Given the description of an element on the screen output the (x, y) to click on. 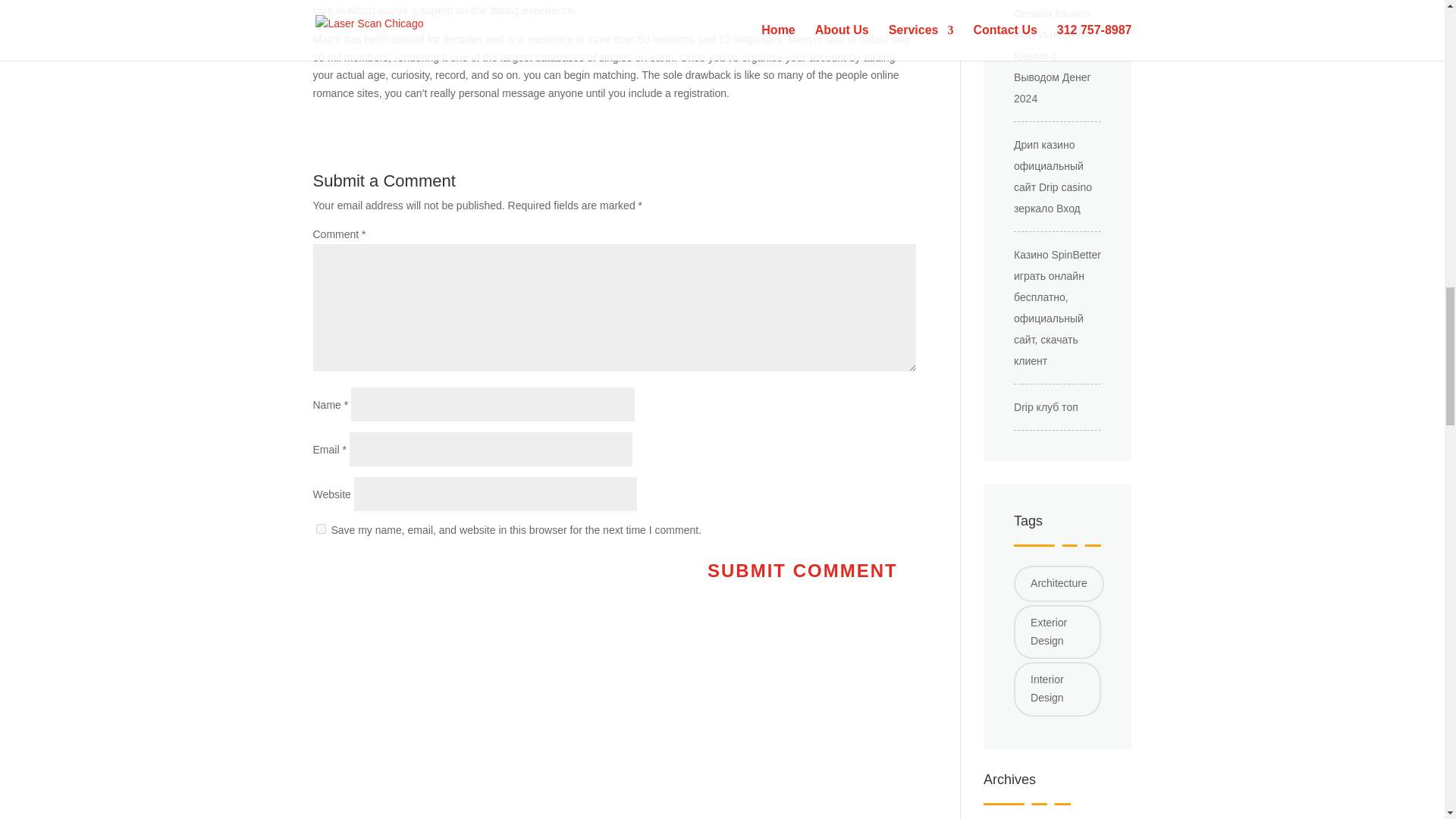
Submit Comment (801, 571)
Submit Comment (801, 571)
yes (319, 528)
